Given the description of an element on the screen output the (x, y) to click on. 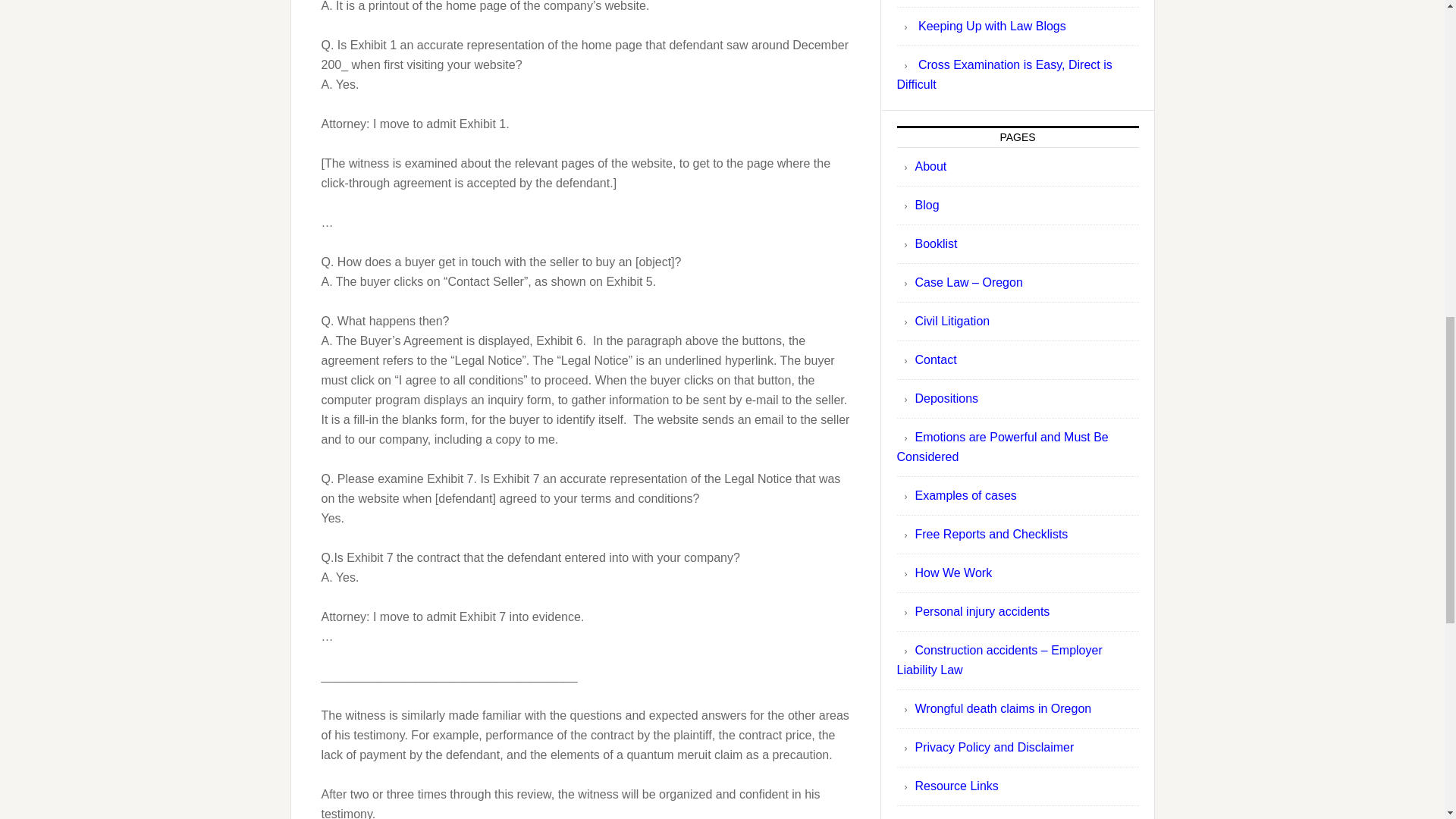
Examples of cases (965, 495)
Civil Litigation (952, 320)
Emotions are Powerful and Must Be Considered (1002, 446)
Keeping Up with Law Blogs (991, 25)
Privacy Policy and Disclaimer (994, 747)
Resource Links (955, 785)
Contact (935, 359)
About (930, 165)
Depositions (946, 398)
Booklist (935, 243)
